Given the description of an element on the screen output the (x, y) to click on. 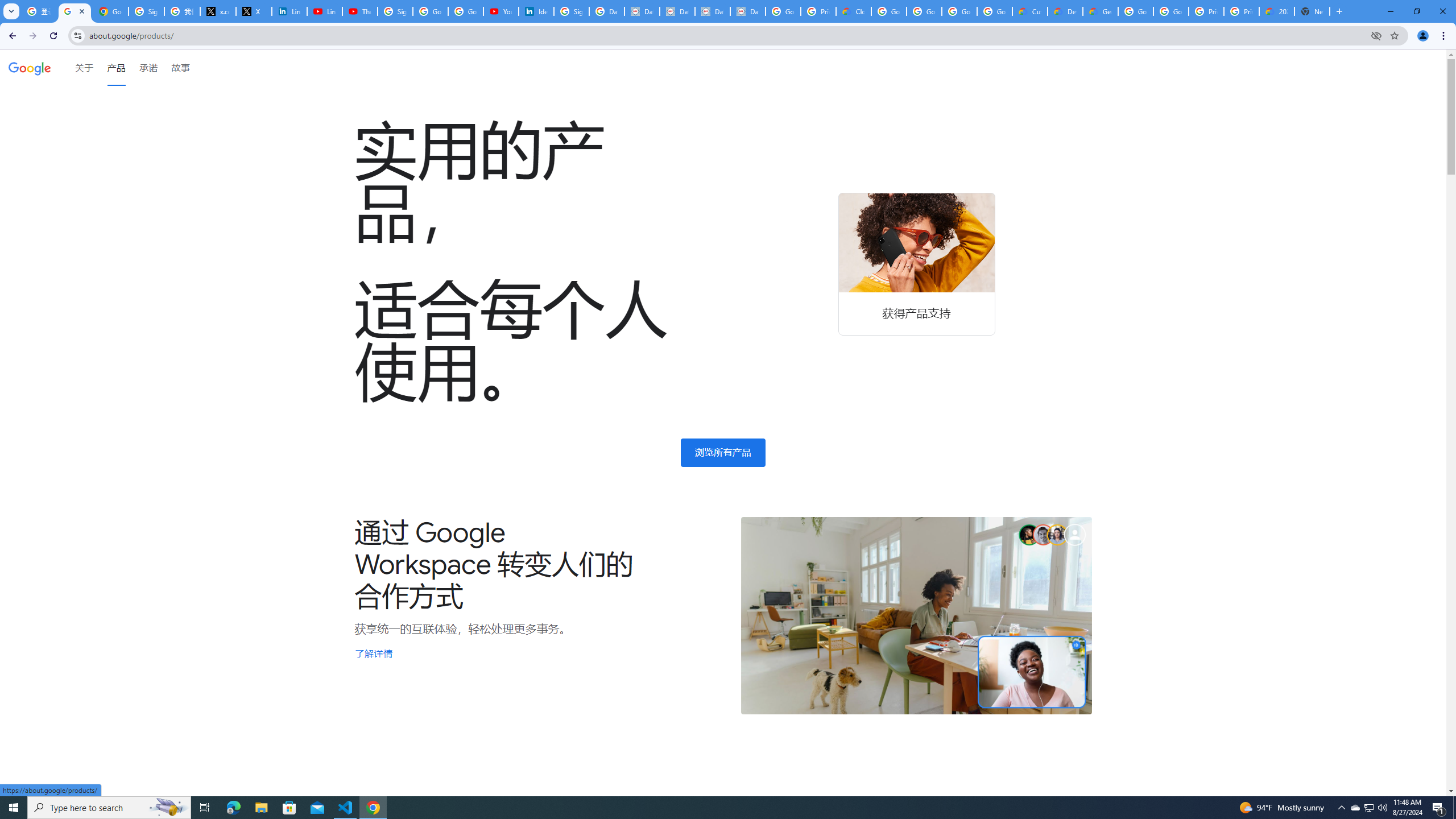
Google Cloud Platform (1170, 11)
Google Workspace - Specific Terms (959, 11)
Customer Care | Google Cloud (1029, 11)
X (253, 11)
Data Privacy Framework (747, 11)
Address and search bar (726, 35)
Google (29, 67)
Third-party cookies blocked (1376, 35)
Data Privacy Framework (641, 11)
